Given the description of an element on the screen output the (x, y) to click on. 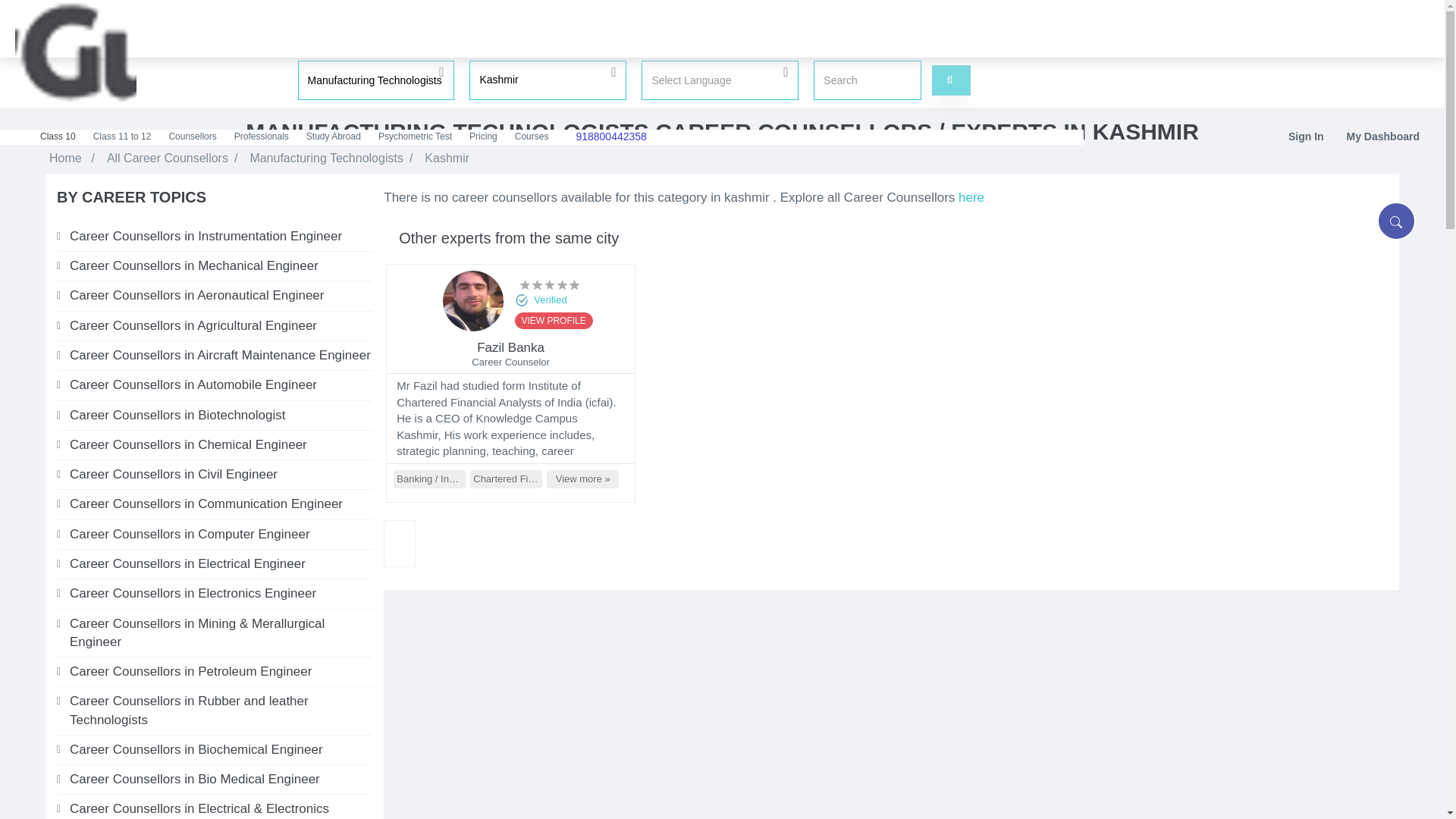
Automobile Engineer (220, 384)
Agricultural Engineer (220, 325)
Manufacturing Technologists (325, 157)
Class 10 (57, 136)
Career Counsellor - Fazil Banka (472, 304)
Courses (532, 136)
Professionals (262, 136)
Mechanical Engineer (220, 266)
Study Abroad (334, 136)
Chemical Engineer (220, 444)
Manufacturing Technologists (375, 79)
Home (65, 157)
Pricing (483, 136)
All Career Experts (971, 197)
Counsellors (192, 136)
